Given the description of an element on the screen output the (x, y) to click on. 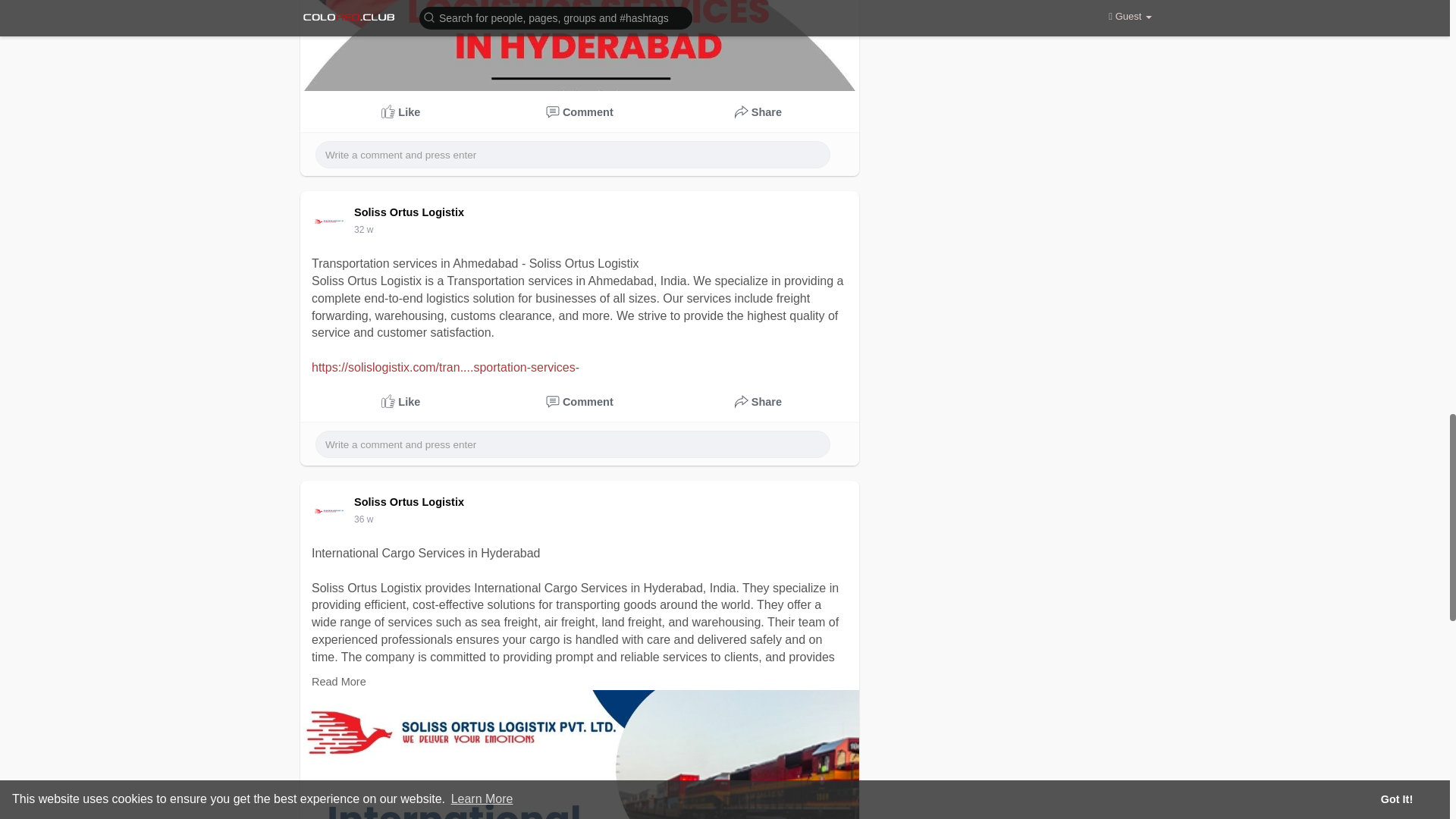
Share (757, 112)
Soliss Ortus Logistix (410, 212)
32 w (362, 229)
36 w (362, 519)
Read More (338, 681)
Comments (579, 402)
36 w (362, 519)
Comments (579, 112)
Share (757, 402)
Soliss Ortus Logistix (410, 501)
32 w (362, 229)
